Given the description of an element on the screen output the (x, y) to click on. 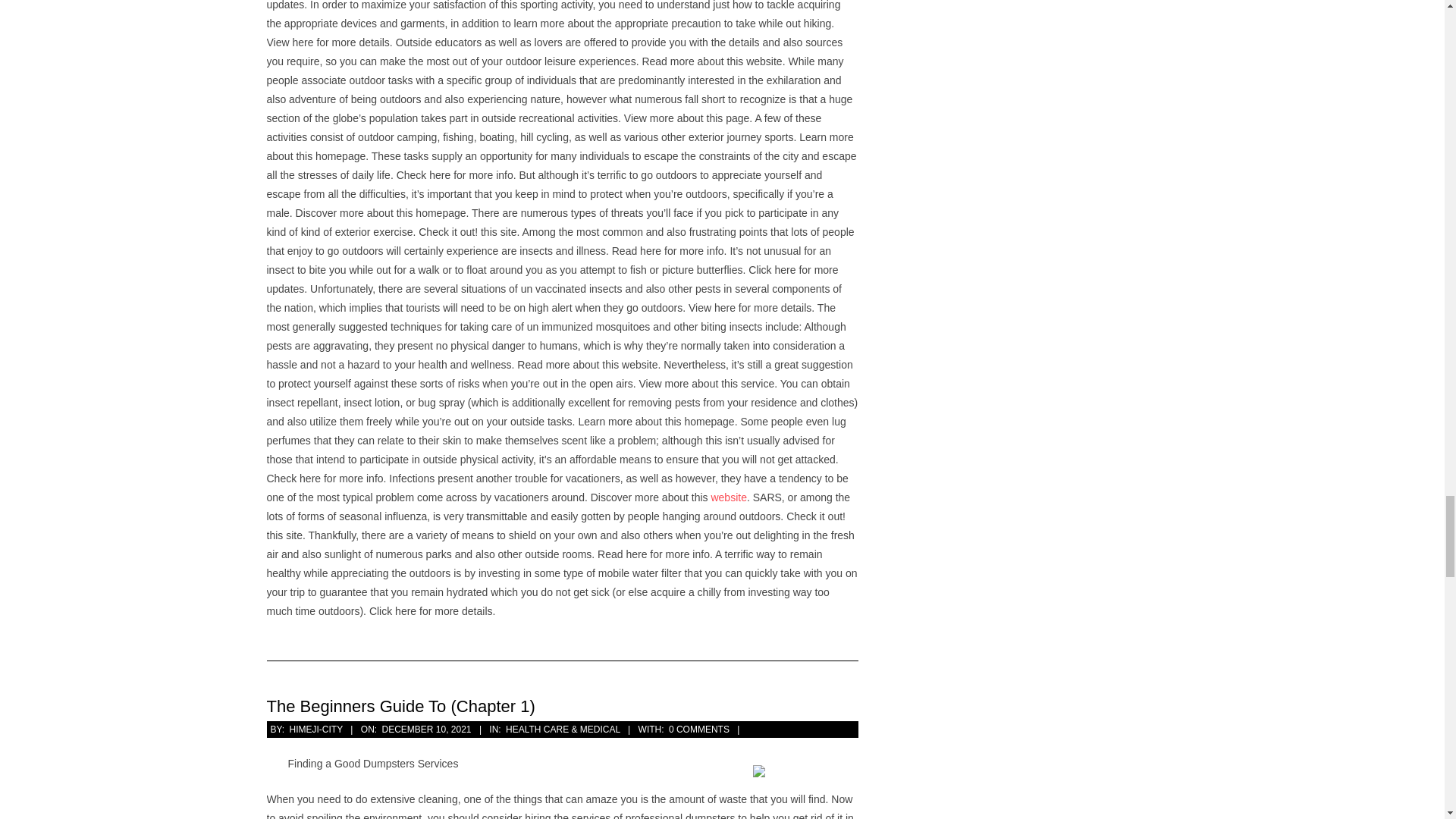
Friday, December 10, 2021, 4:07 pm (425, 728)
Posts by himeji-city (315, 728)
